Given the description of an element on the screen output the (x, y) to click on. 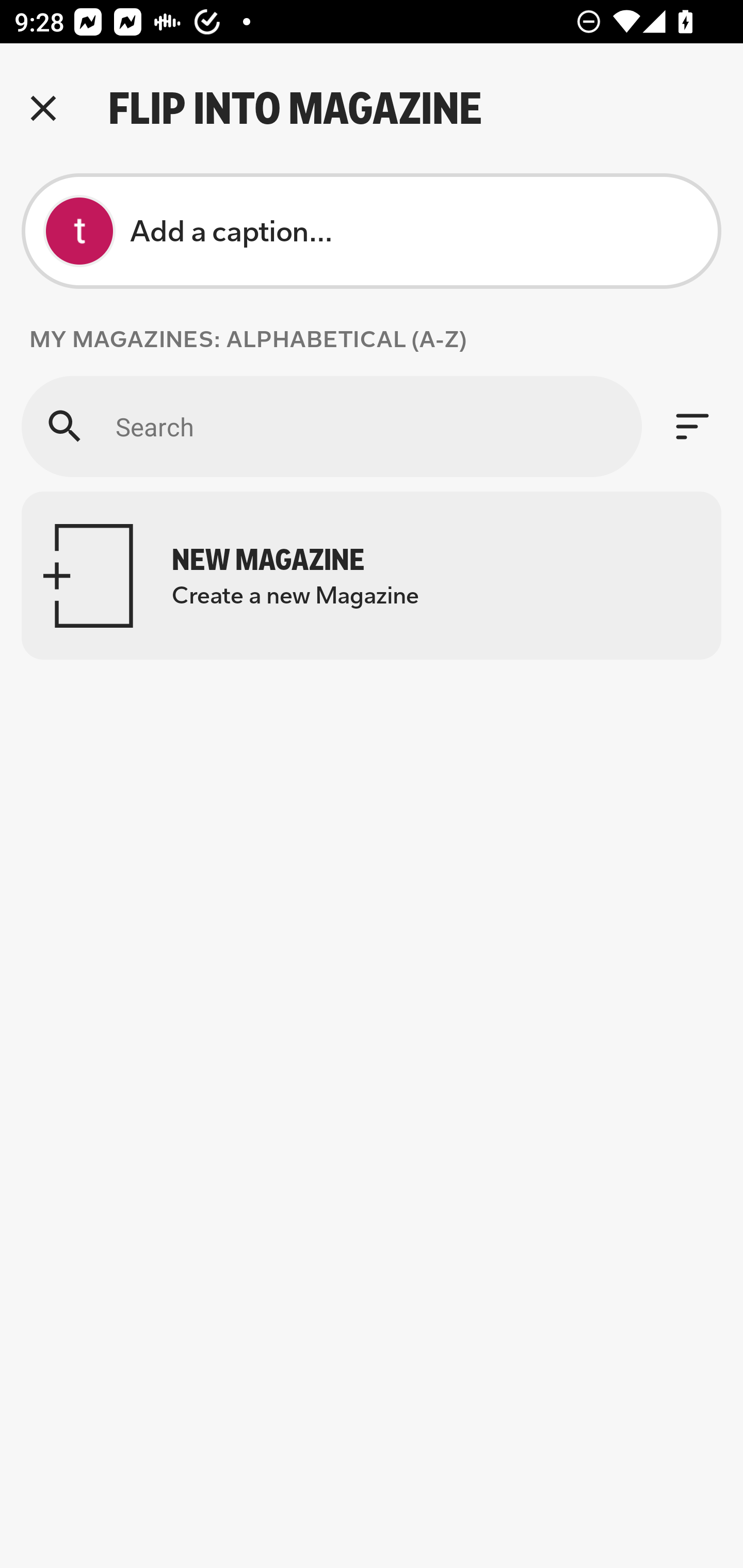
test appium Add a caption… (371, 231)
Search (331, 426)
NEW MAGAZINE Create a new Magazine (371, 575)
